Given the description of an element on the screen output the (x, y) to click on. 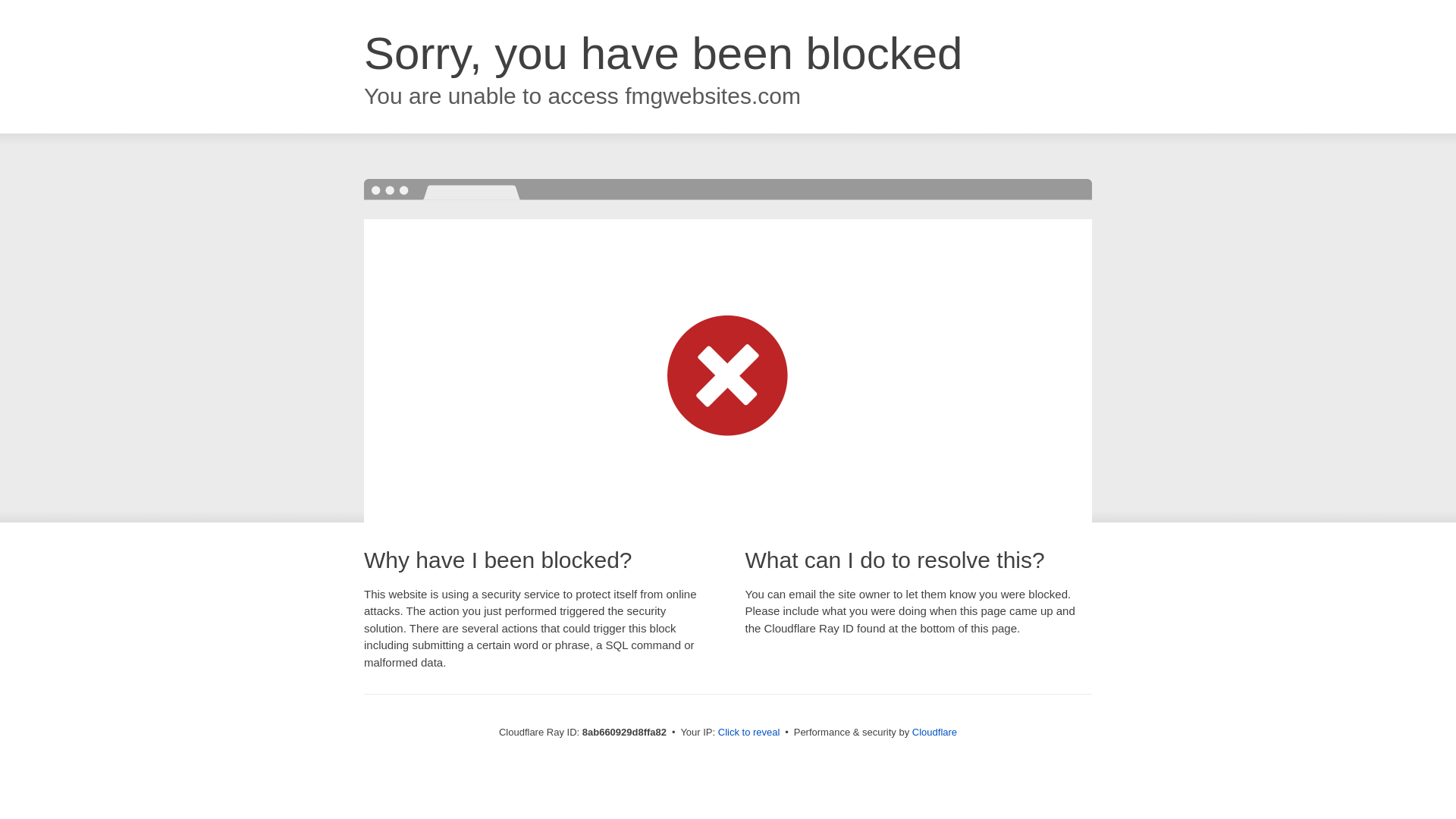
Click to reveal (748, 732)
Cloudflare (934, 731)
